Given the description of an element on the screen output the (x, y) to click on. 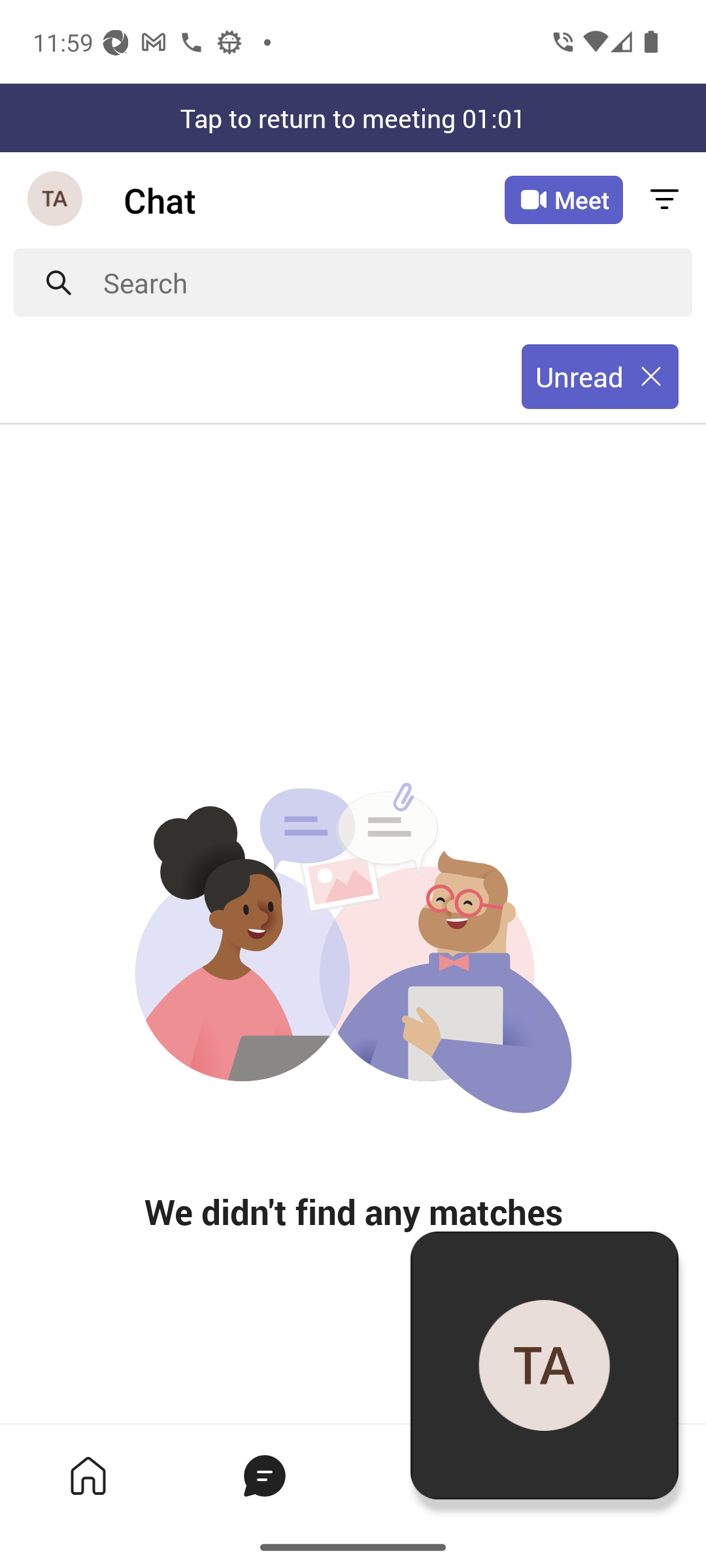
Tap to return to meeting 01:01 (353, 117)
Filter chat messages (664, 199)
Navigation (56, 199)
Meet Meet now or join with an ID (563, 199)
Search (397, 281)
Unread Remove Unread filter (599, 376)
Home tab,1 of 4, not selected (88, 1475)
Chat tab, 2 of 4 (264, 1475)
